Given the description of an element on the screen output the (x, y) to click on. 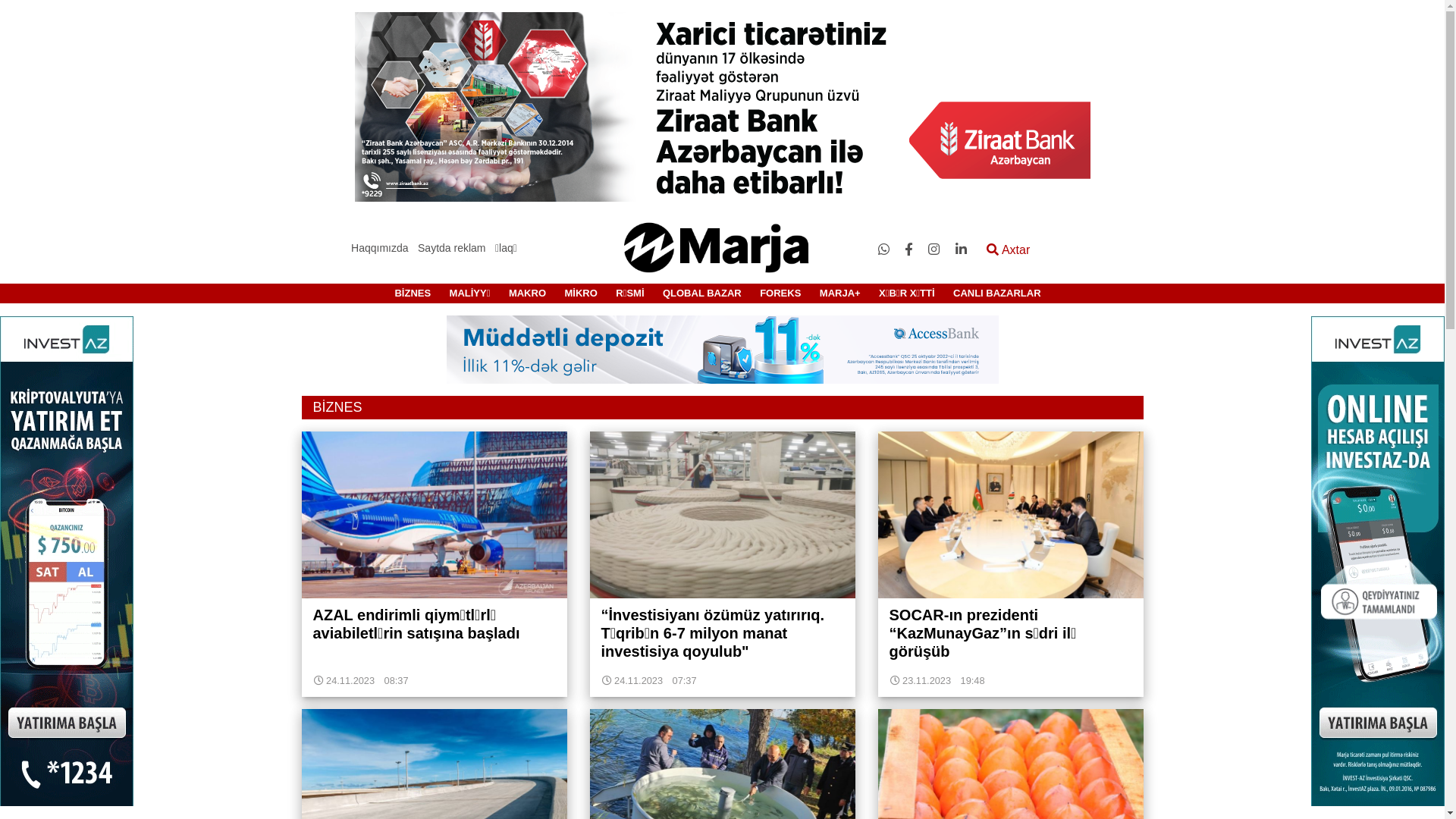
FOREKS Element type: text (779, 292)
CANLI BAZARLAR Element type: text (997, 292)
MAKRO Element type: text (527, 292)
Saytda reklam Element type: text (451, 247)
MARJA+ Element type: text (839, 292)
Axtar Element type: text (1008, 250)
QLOBAL BAZAR Element type: text (701, 292)
